Given the description of an element on the screen output the (x, y) to click on. 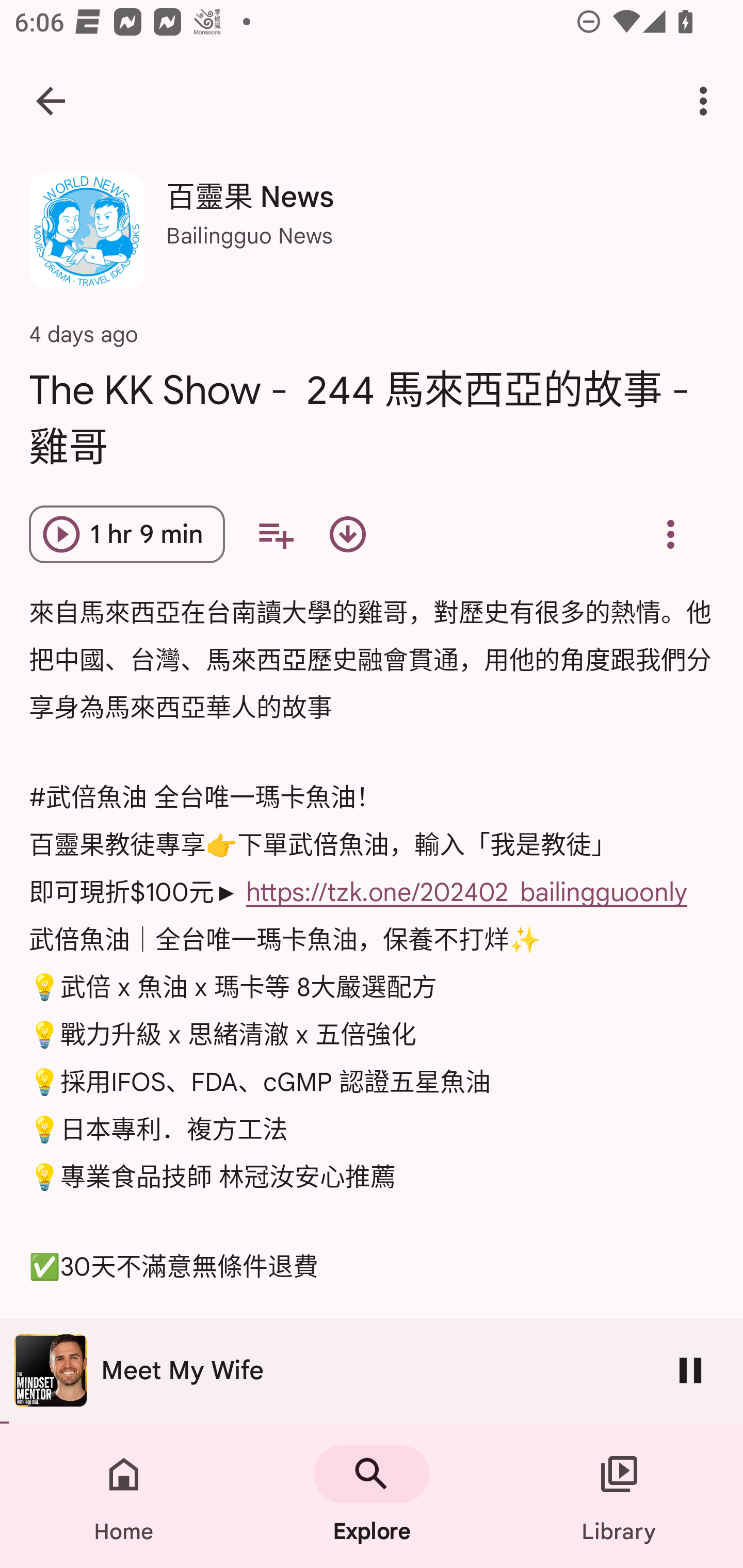
Navigate up (50, 101)
More options (706, 101)
百靈果 News 百靈果 News Bailingguo News (371, 238)
Add to your queue (275, 533)
Download episode (347, 533)
Overflow menu (670, 533)
The Mindset Mentor Meet My Wife Pause 117.0 (371, 1370)
Pause (690, 1370)
Home (123, 1495)
Library (619, 1495)
